Given the description of an element on the screen output the (x, y) to click on. 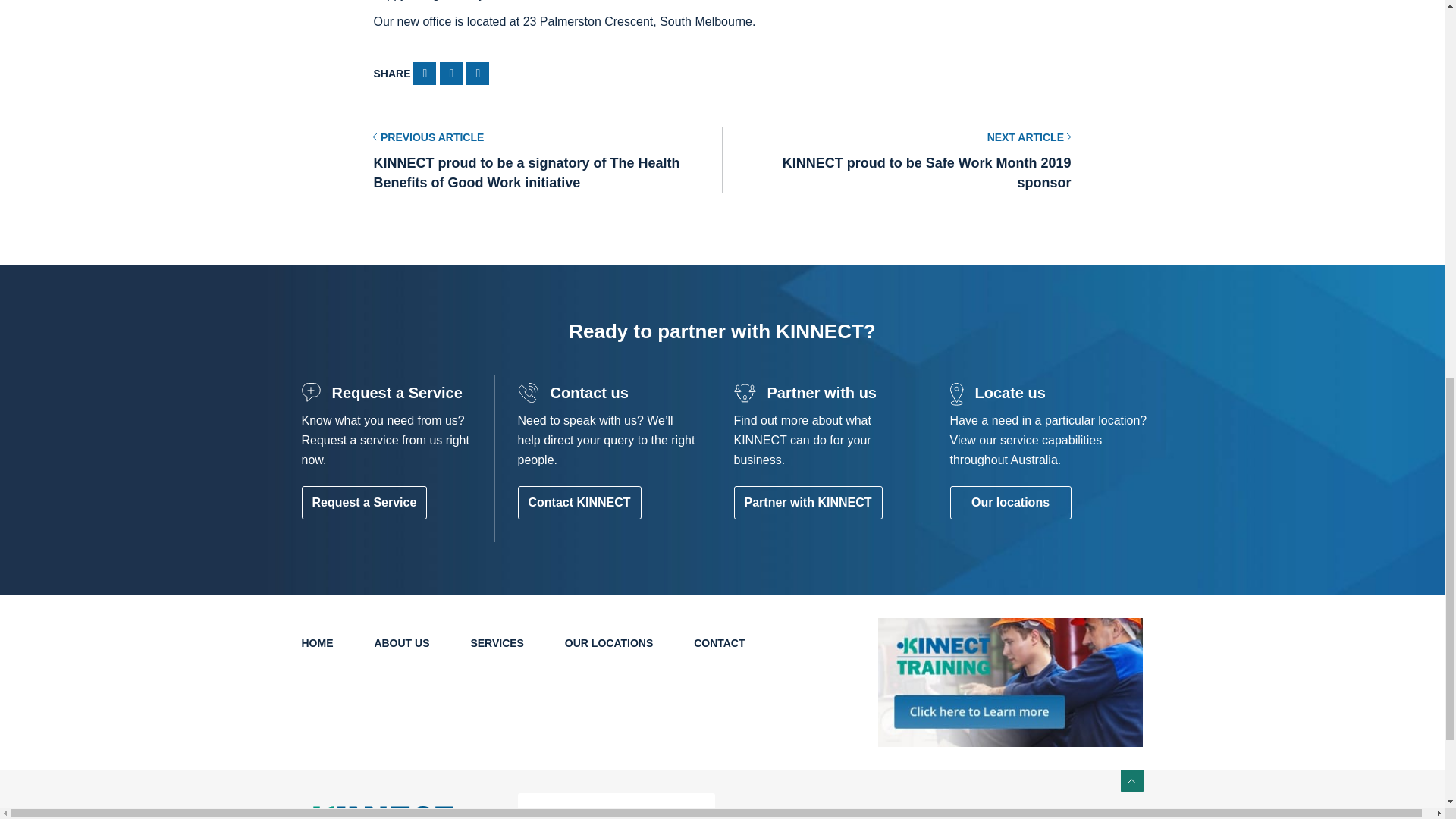
KINNECT (398, 812)
YouTube (657, 814)
Back to top (1131, 780)
KINNECT LOGO (376, 812)
LinkedIn (684, 814)
back to top (1131, 780)
KINNECT proud to be Safe Work Month 2019 sponsor (896, 159)
